Given the description of an element on the screen output the (x, y) to click on. 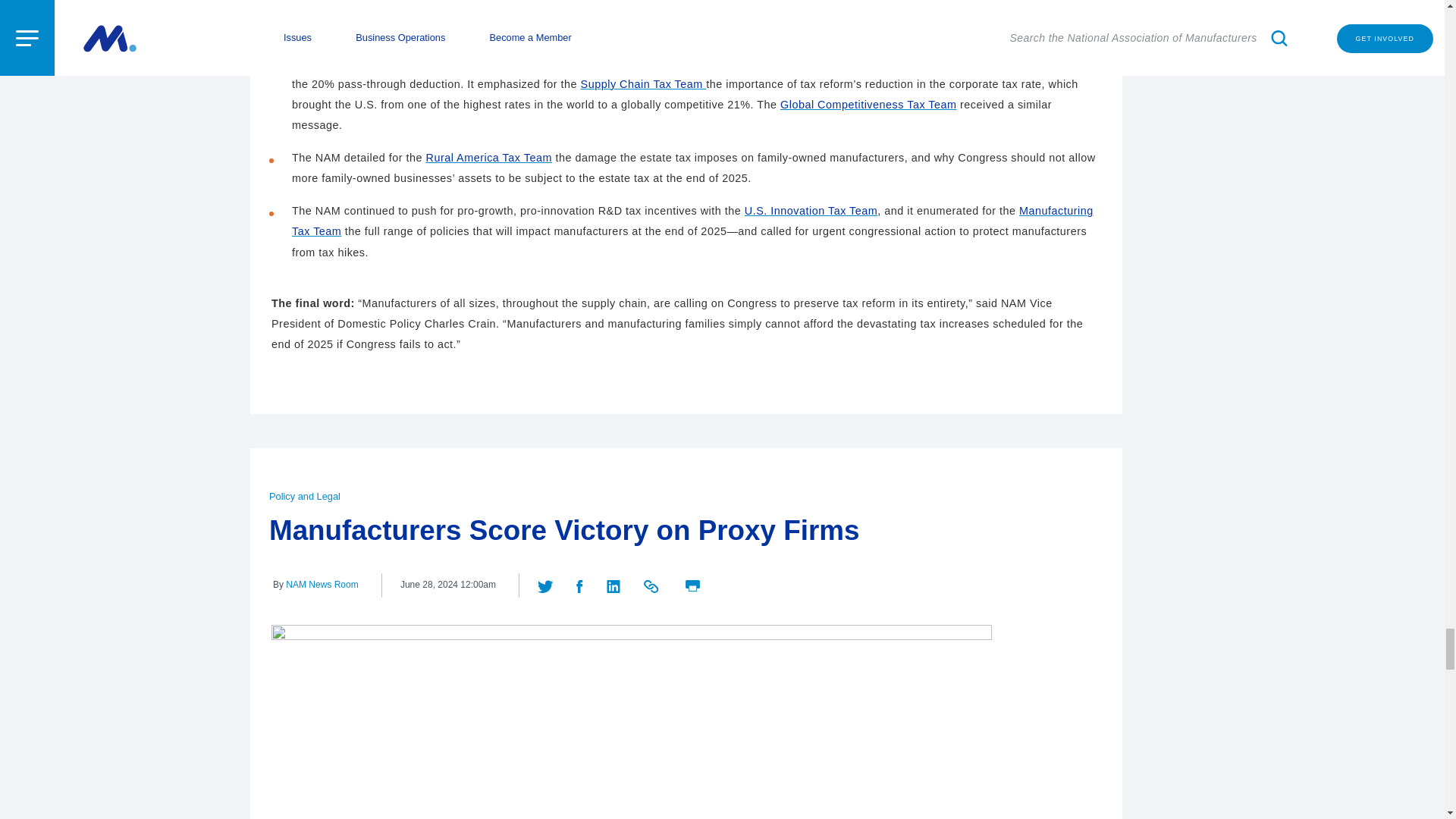
Friday, June 28th at 12:00am (448, 584)
